Given the description of an element on the screen output the (x, y) to click on. 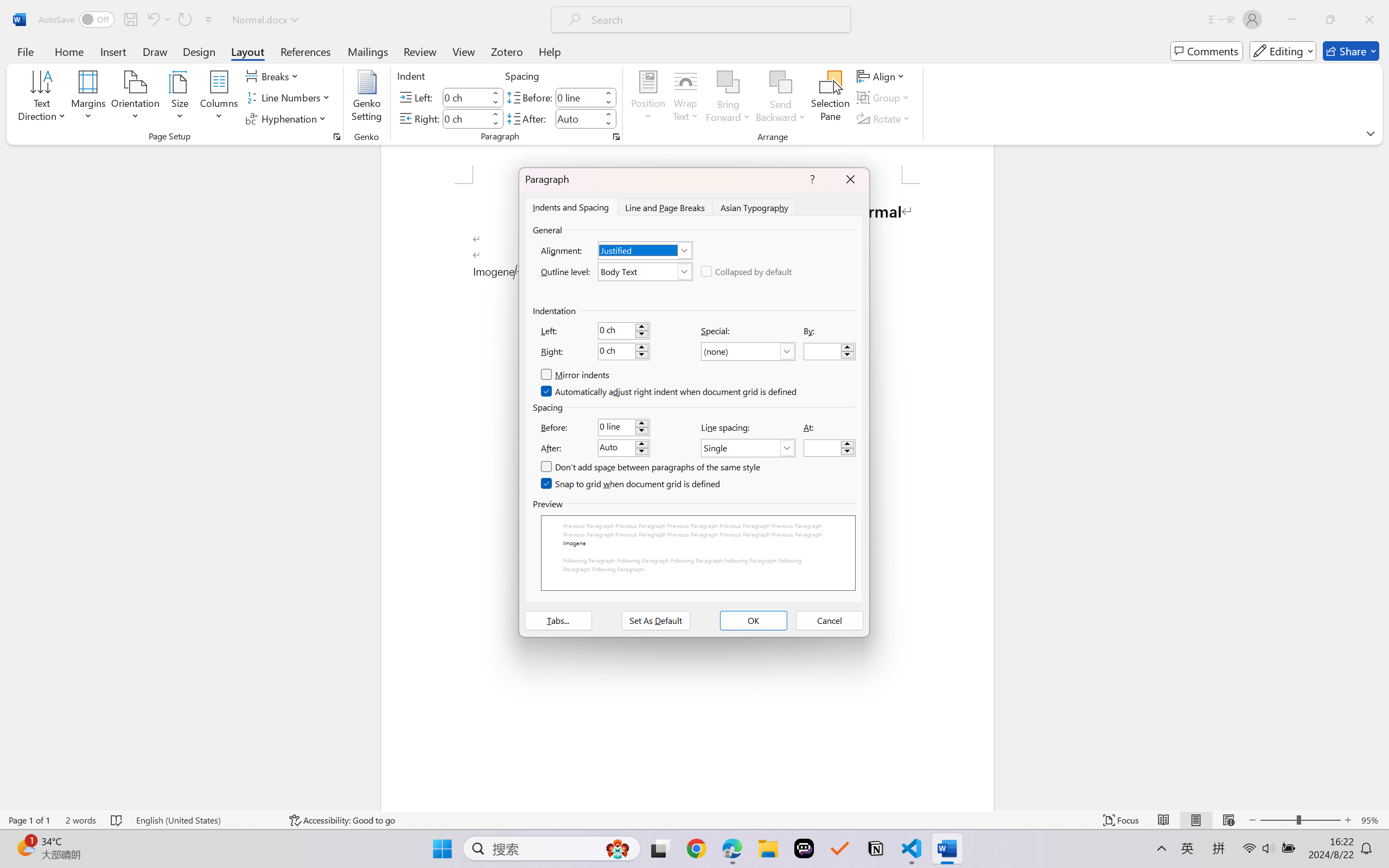
Page Number Page 1 of 1 (29, 819)
Zoom 95% (1372, 819)
More (608, 113)
Rotate (884, 118)
Indents and Spacing (570, 206)
Class: NetUIScrollBar (1382, 477)
Special: (748, 351)
Outline level: (645, 271)
